Given the description of an element on the screen output the (x, y) to click on. 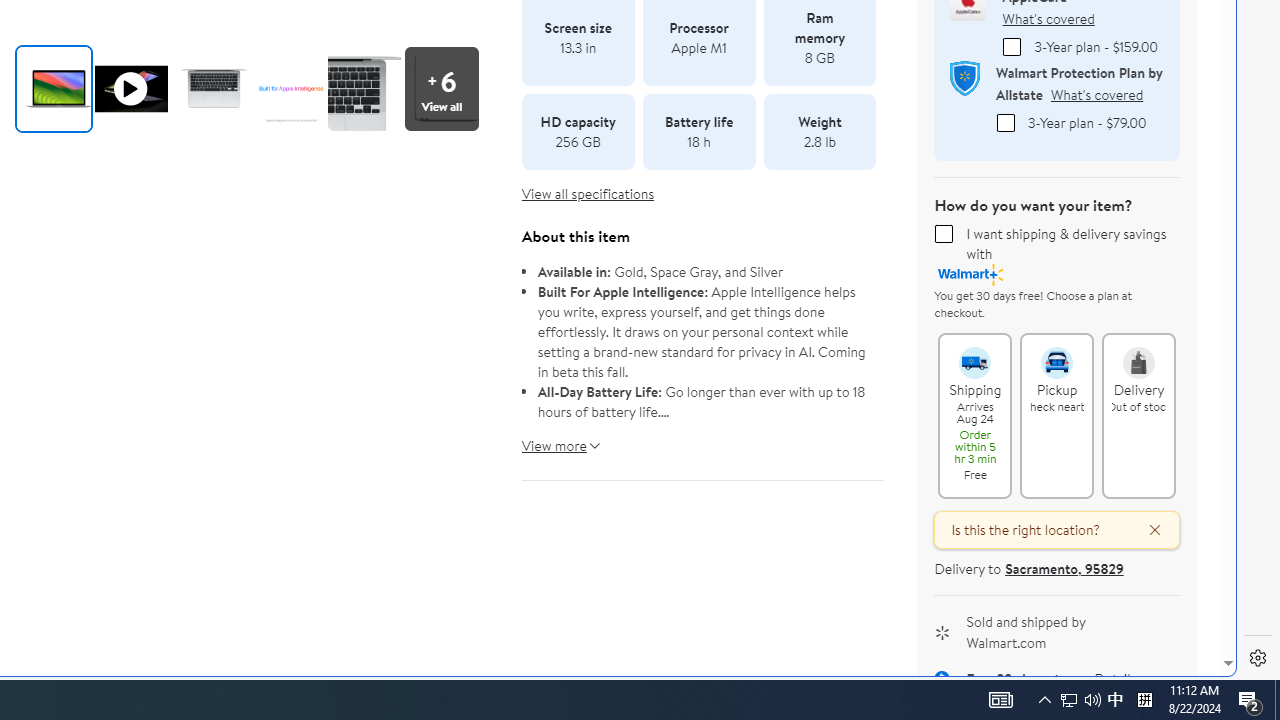
Close question (1146, 529)
View all media (447, 88)
What's covered of AppleCare+ (1048, 18)
Delivery Out of stock (1138, 353)
Walmart plus (971, 274)
3-Year plan - $79.00 (1005, 122)
Available in: Gold, Space Gray, and Silver (703, 272)
Pickup Check nearby (1056, 353)
